Given the description of an element on the screen output the (x, y) to click on. 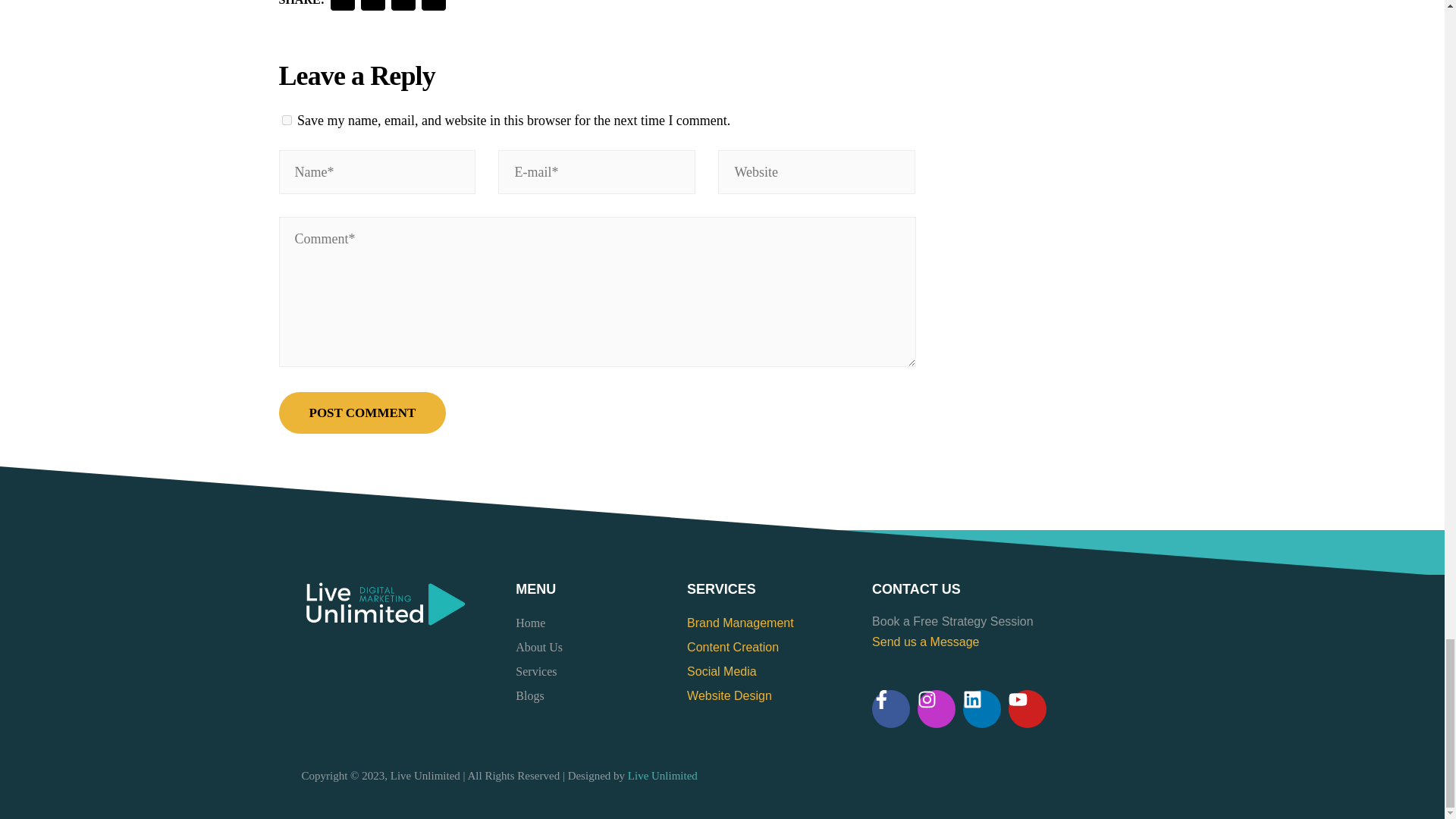
Mastodon (373, 7)
Share (433, 7)
yes (287, 120)
Facebook (342, 7)
Email (403, 7)
Facebook (342, 7)
Post Comment (362, 413)
Mastodon (373, 7)
Email (403, 7)
Post Comment (362, 413)
